Given the description of an element on the screen output the (x, y) to click on. 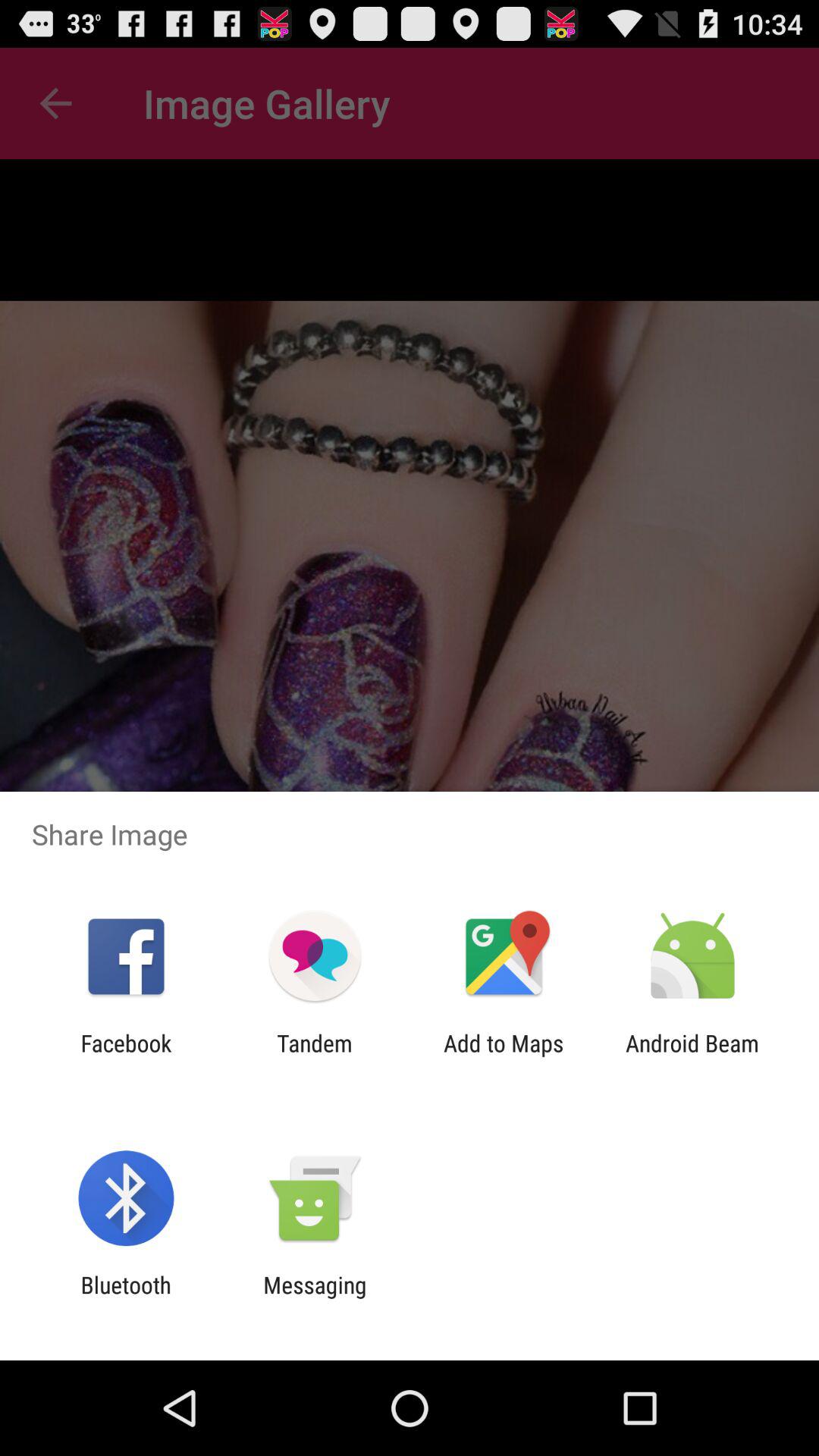
launch item next to the add to maps (314, 1056)
